Given the description of an element on the screen output the (x, y) to click on. 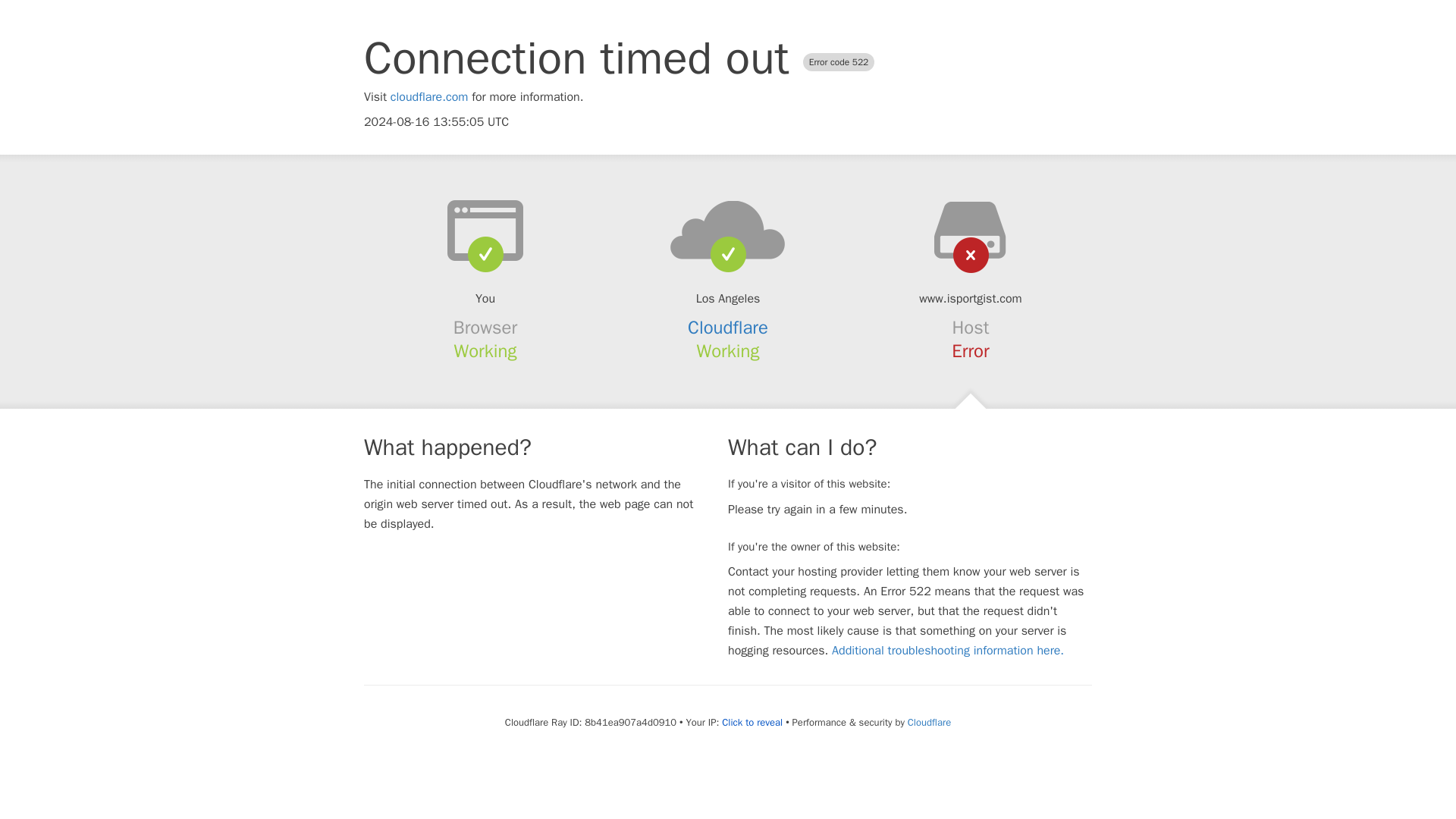
cloudflare.com (429, 96)
Additional troubleshooting information here. (947, 650)
Cloudflare (727, 327)
Cloudflare (928, 721)
Click to reveal (752, 722)
